Given the description of an element on the screen output the (x, y) to click on. 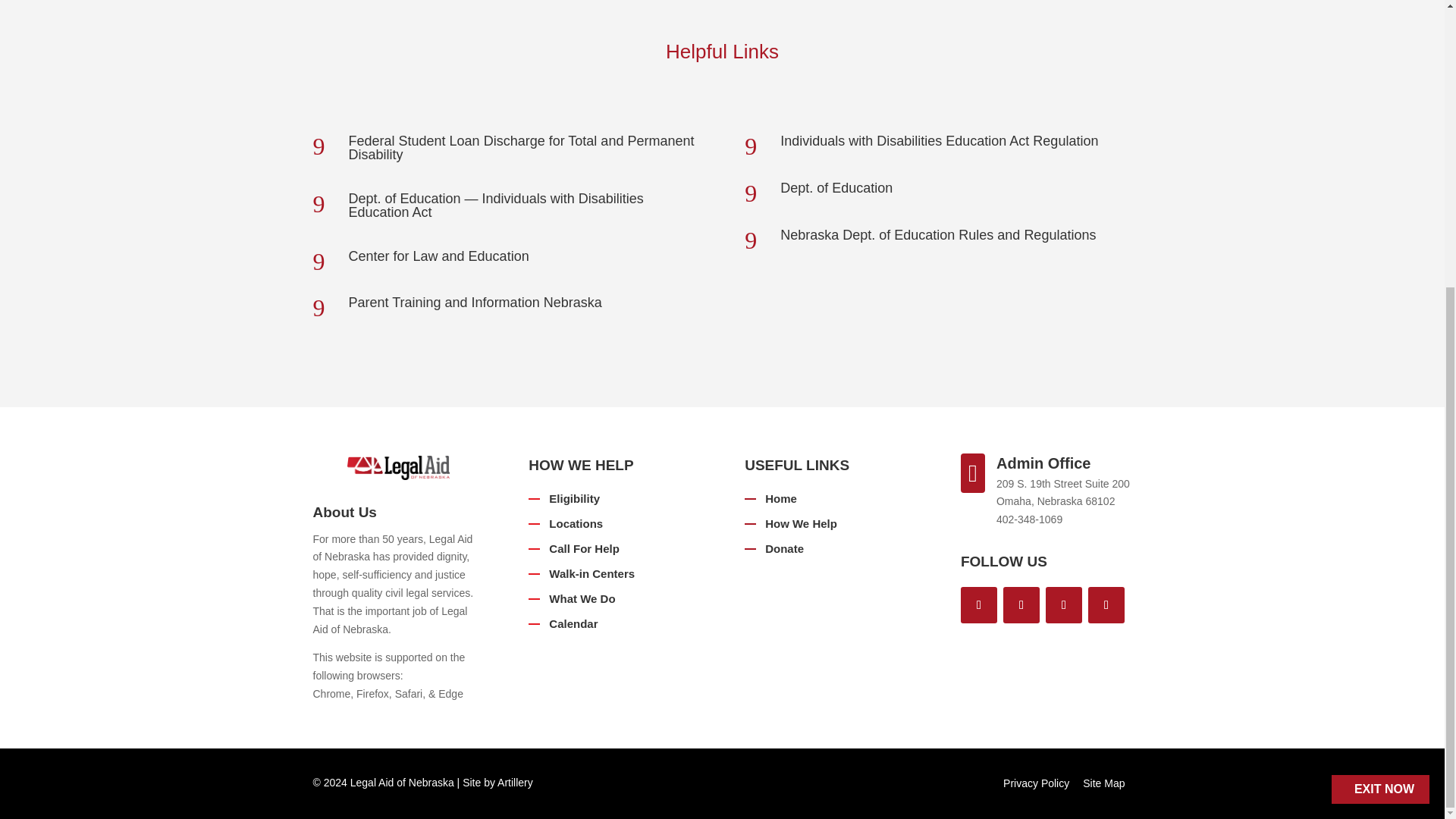
EXIT NOW (1380, 355)
Follow on Twitter (1021, 605)
Follow on Instagram (1105, 605)
Follow on LinkedIn (1063, 605)
Follow on Facebook (978, 605)
